Given the description of an element on the screen output the (x, y) to click on. 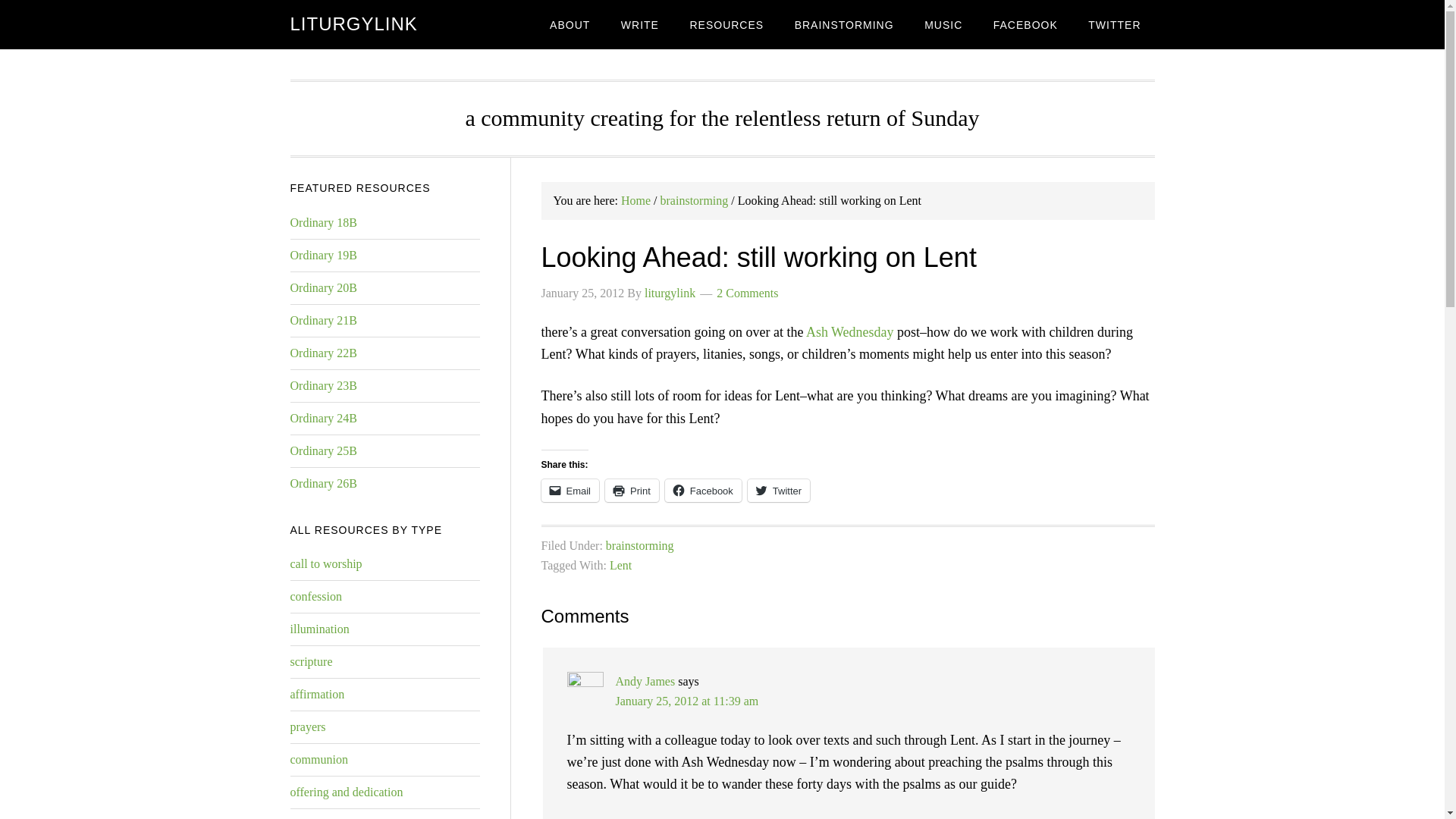
RESOURCES (726, 24)
brainstorming (695, 200)
Click to share on Twitter (778, 490)
Facebook (703, 490)
Ordinary 26B (322, 482)
Ordinary 25B (322, 450)
Ordinary 18B (322, 222)
Home (635, 200)
FACEBOOK (1025, 24)
WRITE (639, 24)
Ordinary 24B (322, 418)
Print (632, 490)
Ordinary 19B (322, 254)
Email (570, 490)
Ordinary 20B (322, 287)
